Given the description of an element on the screen output the (x, y) to click on. 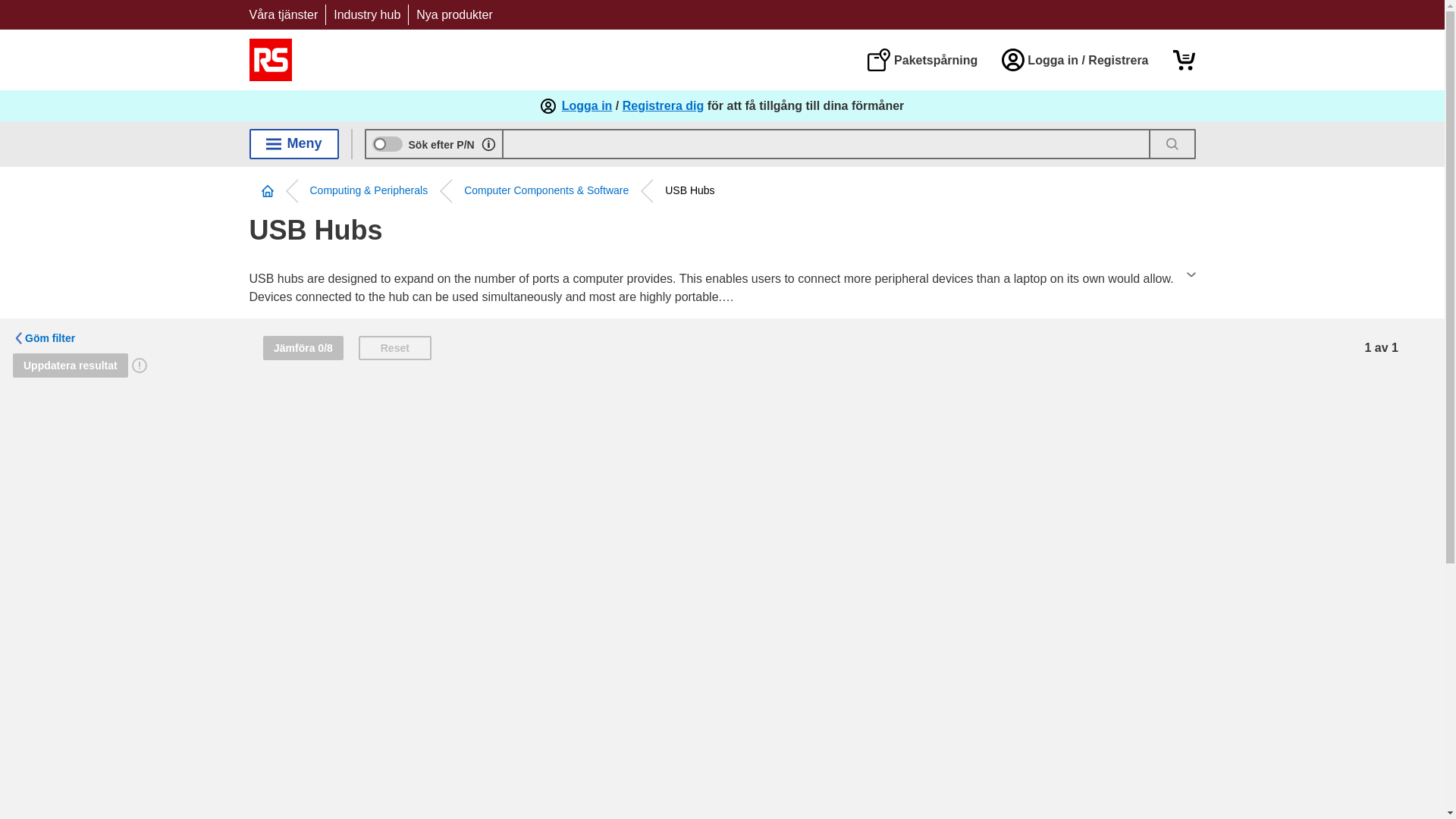
Nya produkter (454, 14)
Logga in (587, 105)
Registrera dig (663, 105)
Industry hub (366, 14)
Meny (292, 143)
